Given the description of an element on the screen output the (x, y) to click on. 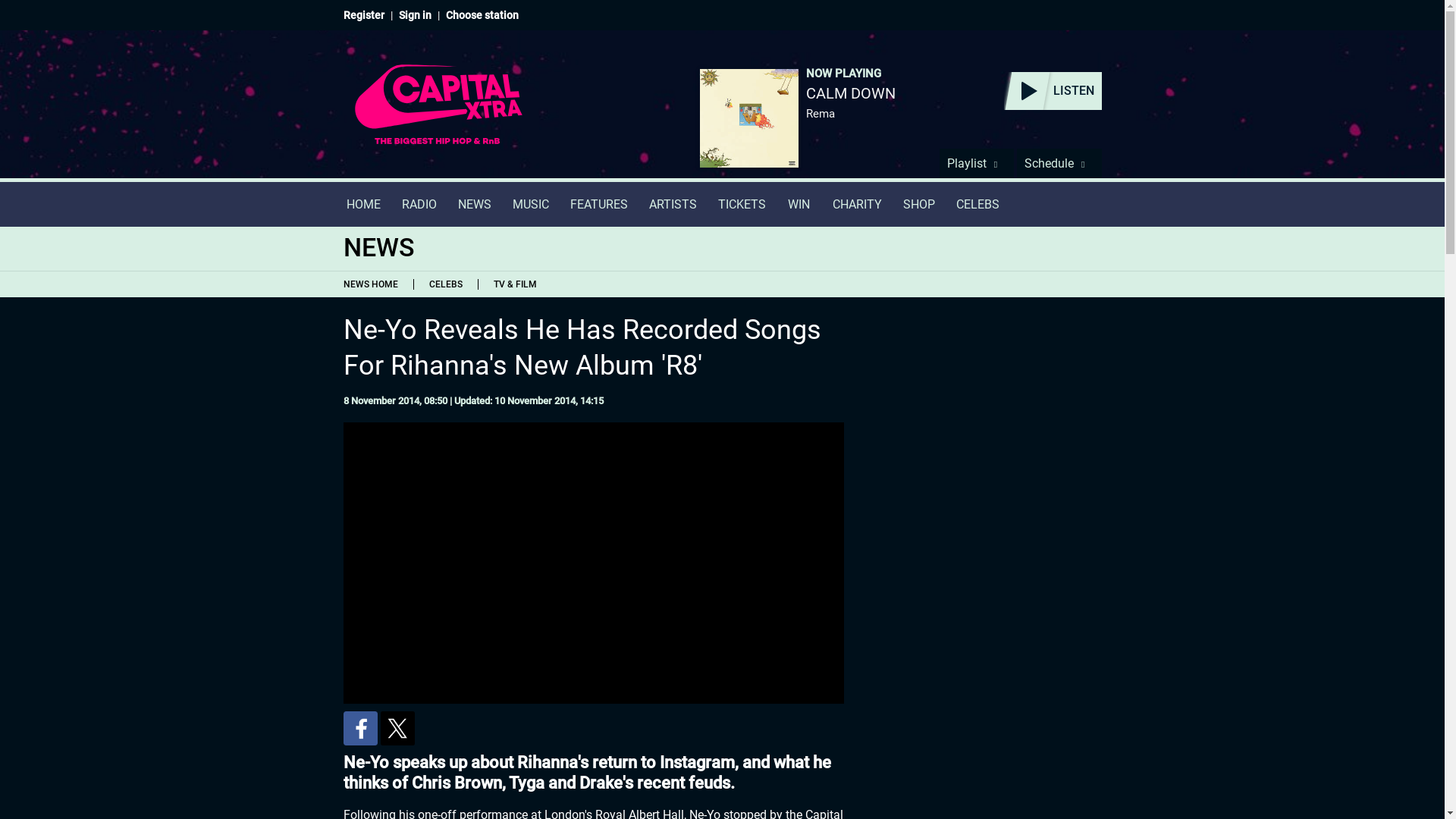
Playlist (976, 163)
CHARITY (857, 203)
Choose station (481, 15)
HOME (362, 203)
MUSIC (530, 203)
TICKETS (741, 203)
CELEBS (976, 203)
LISTEN (1053, 90)
NEWS HOME (373, 284)
